Given the description of an element on the screen output the (x, y) to click on. 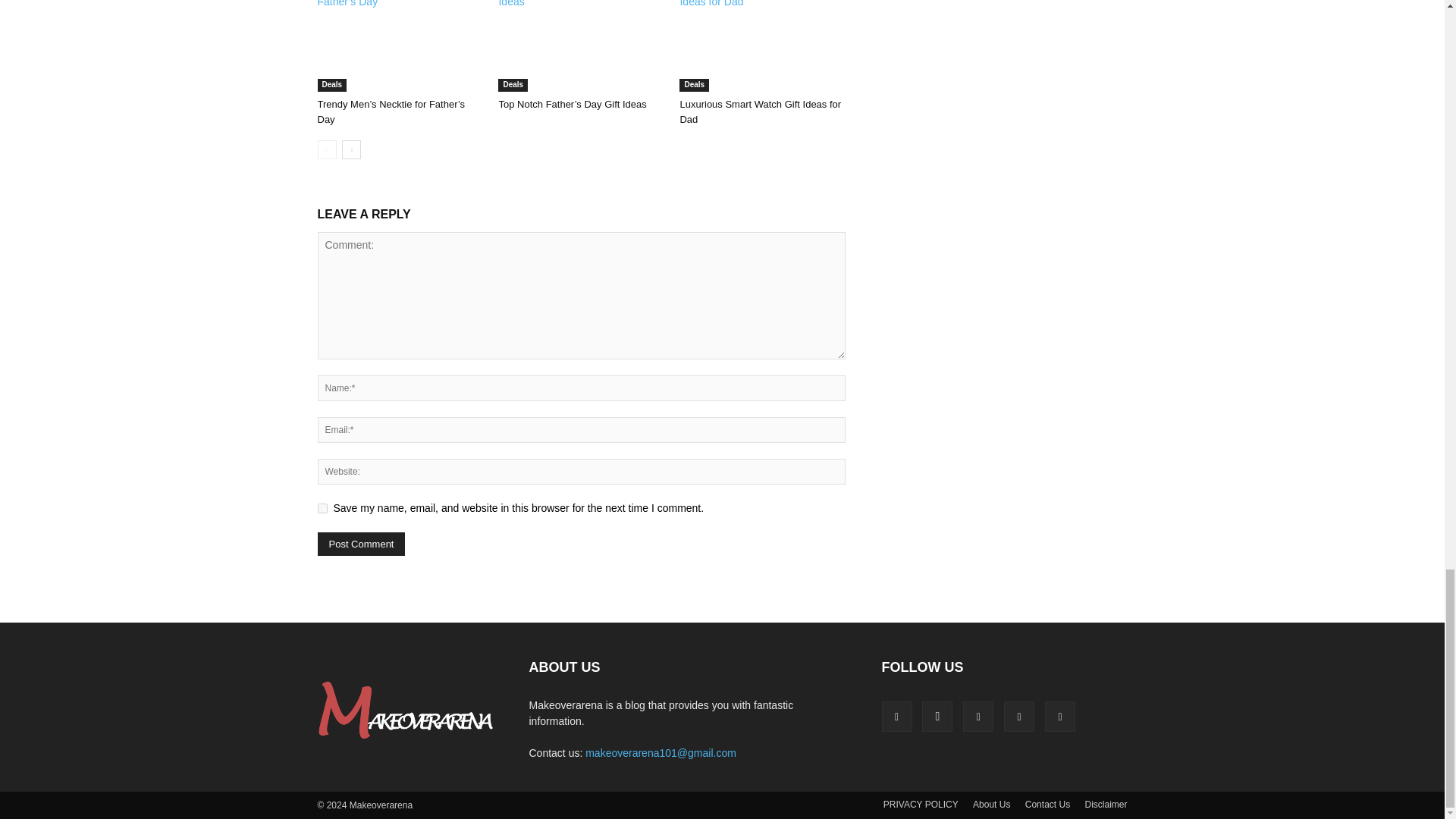
yes (321, 508)
Post Comment (360, 544)
